Given the description of an element on the screen output the (x, y) to click on. 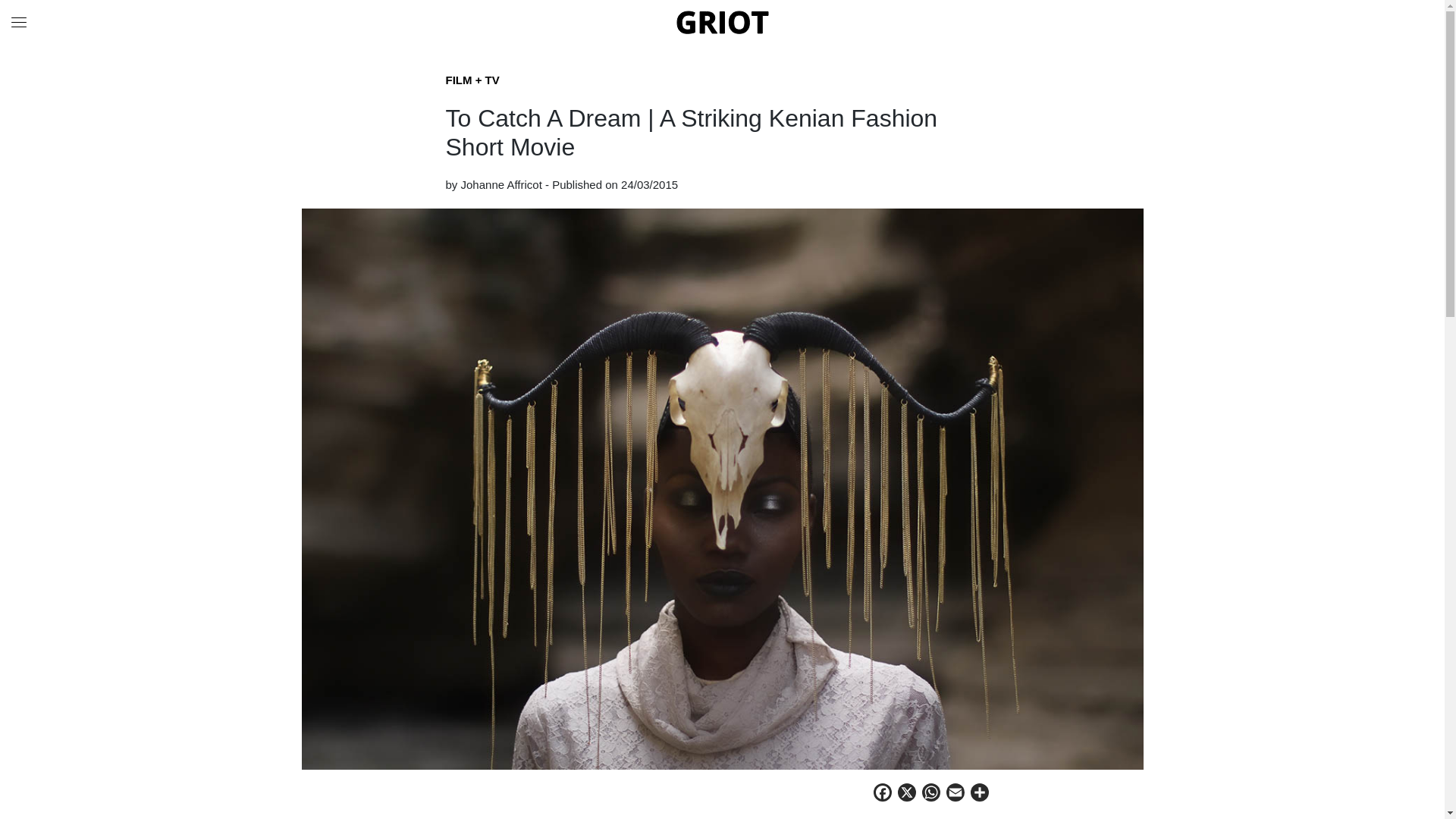
X (906, 794)
WhatsApp (930, 794)
GRIOT (721, 22)
WhatsApp (930, 794)
Email (955, 794)
Facebook (882, 794)
Johanne Affricot (501, 184)
GRIOT (721, 21)
Facebook (882, 794)
Email (955, 794)
X (906, 794)
